Given the description of an element on the screen output the (x, y) to click on. 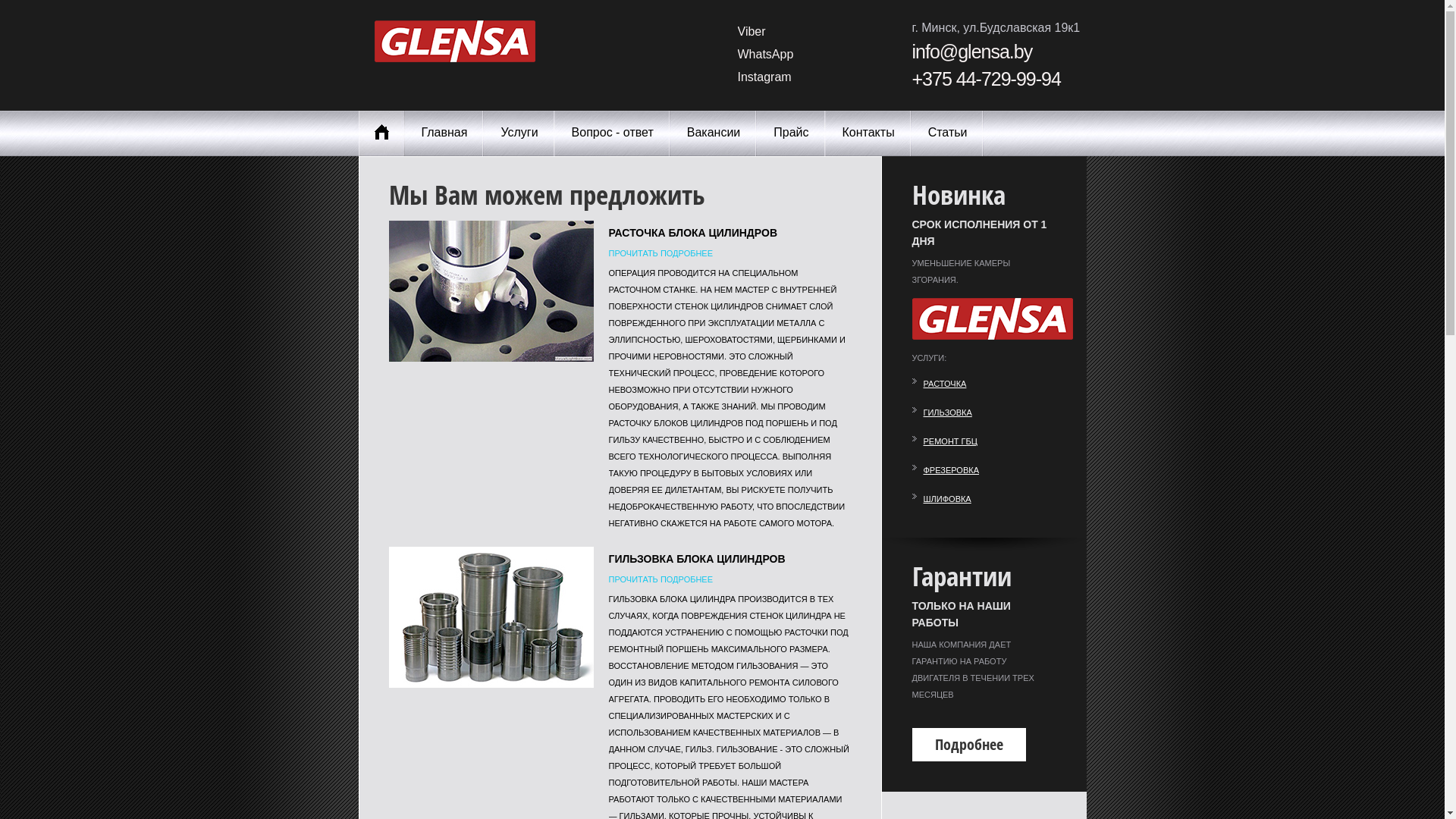
Viber Element type: text (751, 31)
WhatsApp Element type: text (765, 53)
info@glensa.by Element type: text (971, 51)
+375 44-729-99-94 Element type: text (985, 78)
Instagram Element type: text (763, 76)
